Given the description of an element on the screen output the (x, y) to click on. 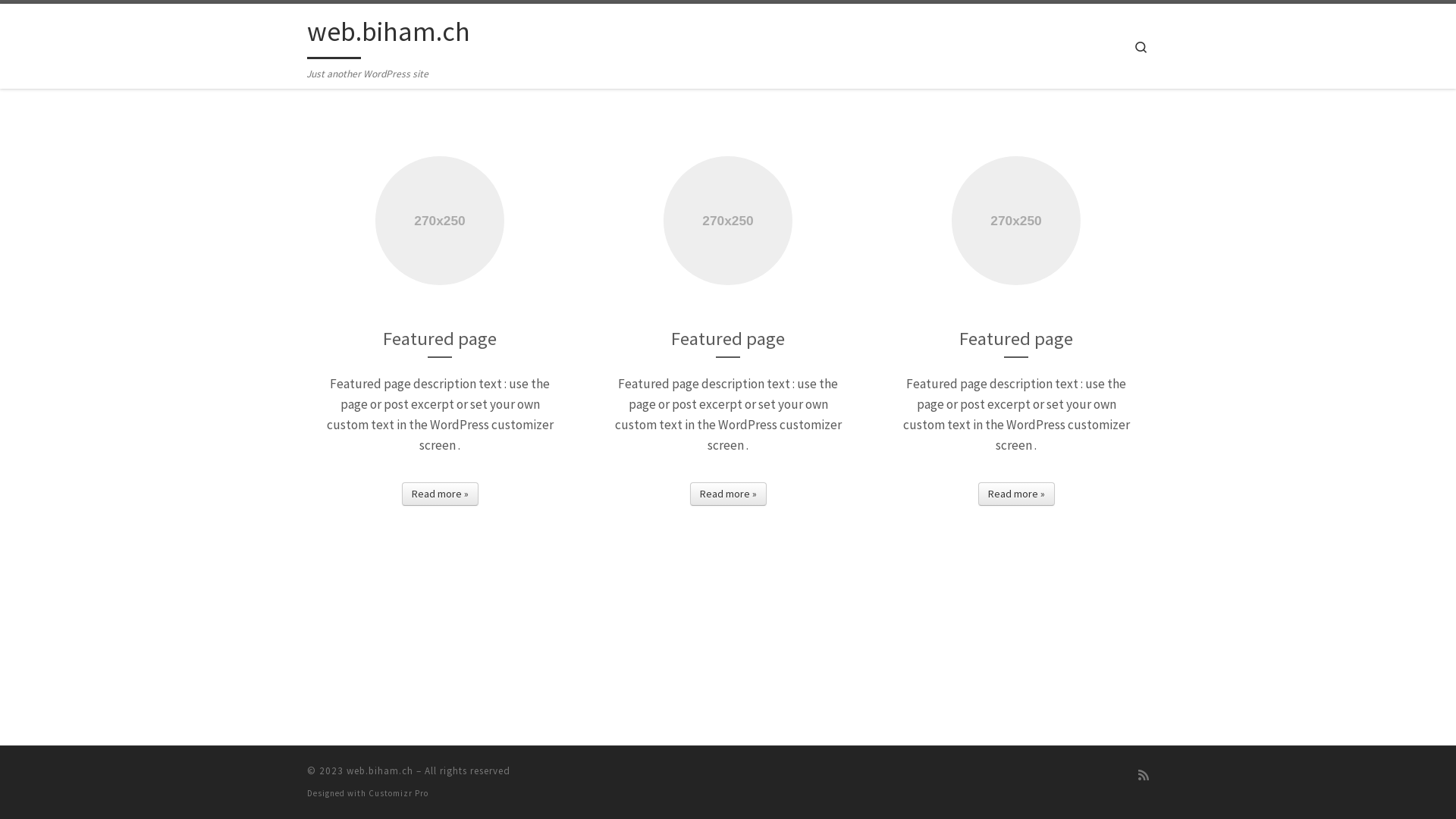
Subscribe to my rss feed Element type: hover (1143, 774)
Search Element type: text (1140, 45)
web.biham.ch Element type: text (379, 770)
Skip to content Element type: text (57, 21)
web.biham.ch Element type: text (388, 35)
Customizr Pro Element type: text (398, 792)
